Given the description of an element on the screen output the (x, y) to click on. 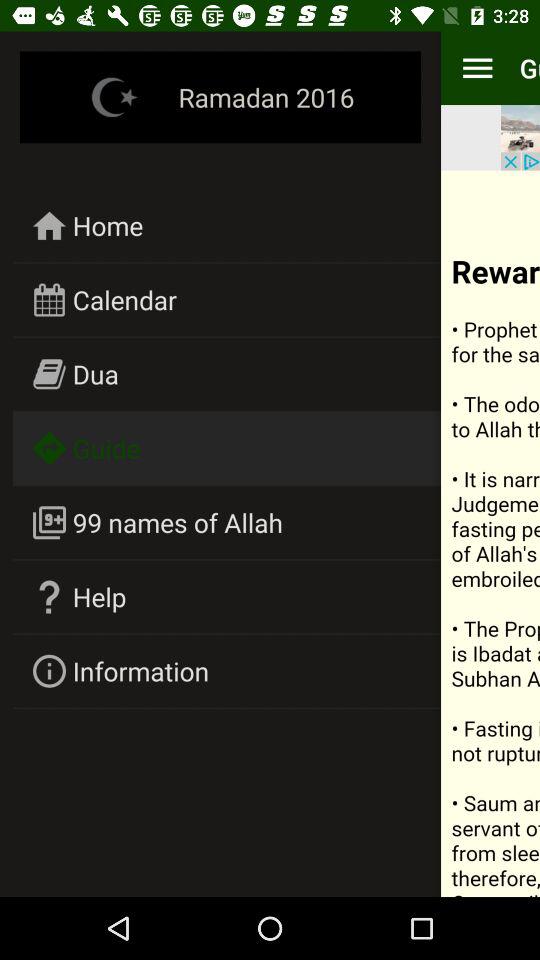
tap the item to the right of 99 names of (490, 533)
